Given the description of an element on the screen output the (x, y) to click on. 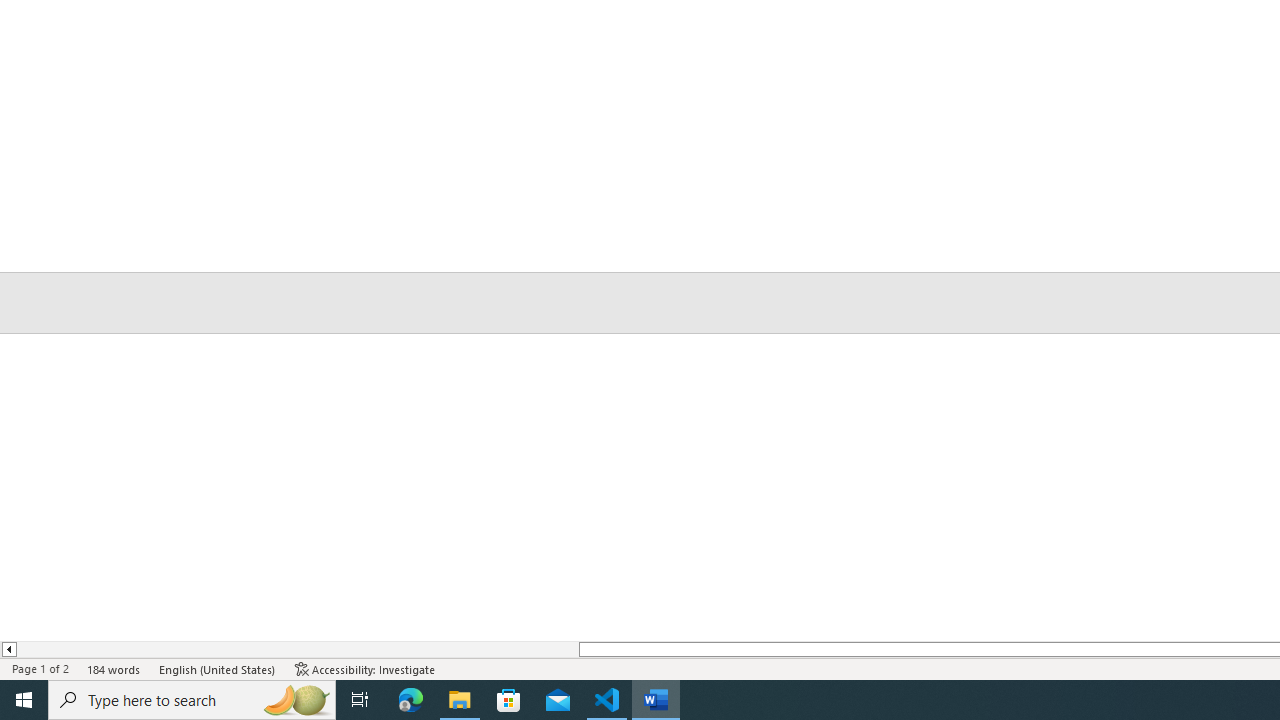
Column left (8, 649)
Accessibility Checker Accessibility: Investigate (365, 668)
Page left (297, 649)
Language English (United States) (218, 668)
Page Number Page 1 of 2 (39, 668)
